Given the description of an element on the screen output the (x, y) to click on. 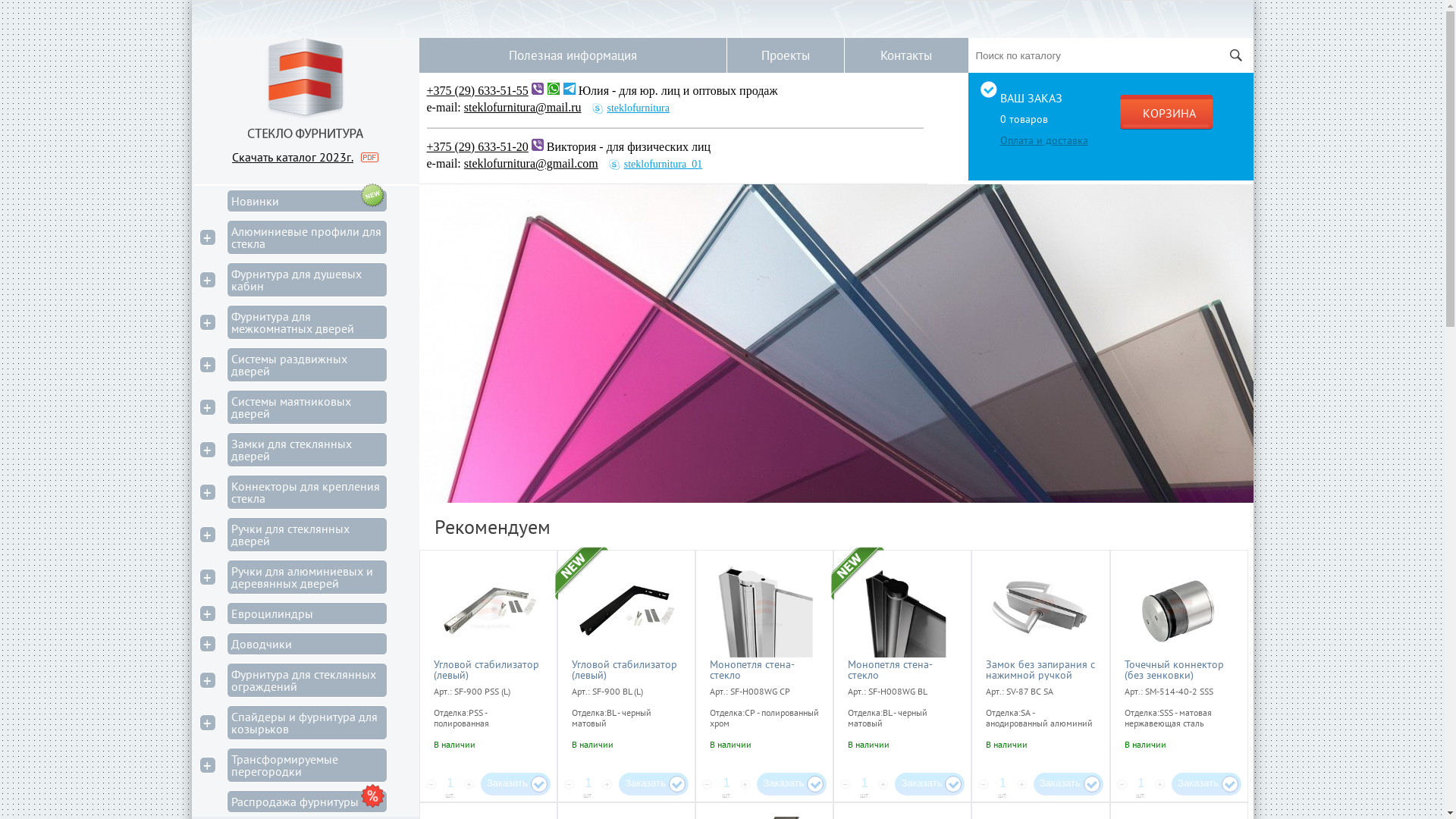
+375 (29) 633-51-20 Element type: text (476, 146)
+375 (29) 633-51-55 Element type: text (476, 90)
steklofurnitura@gmail.com Element type: text (534, 162)
steklofurnitura Element type: text (630, 107)
steklofurnitura@mail.ru Element type: text (526, 106)
steklofurnitura_01 Element type: text (655, 163)
